Given the description of an element on the screen output the (x, y) to click on. 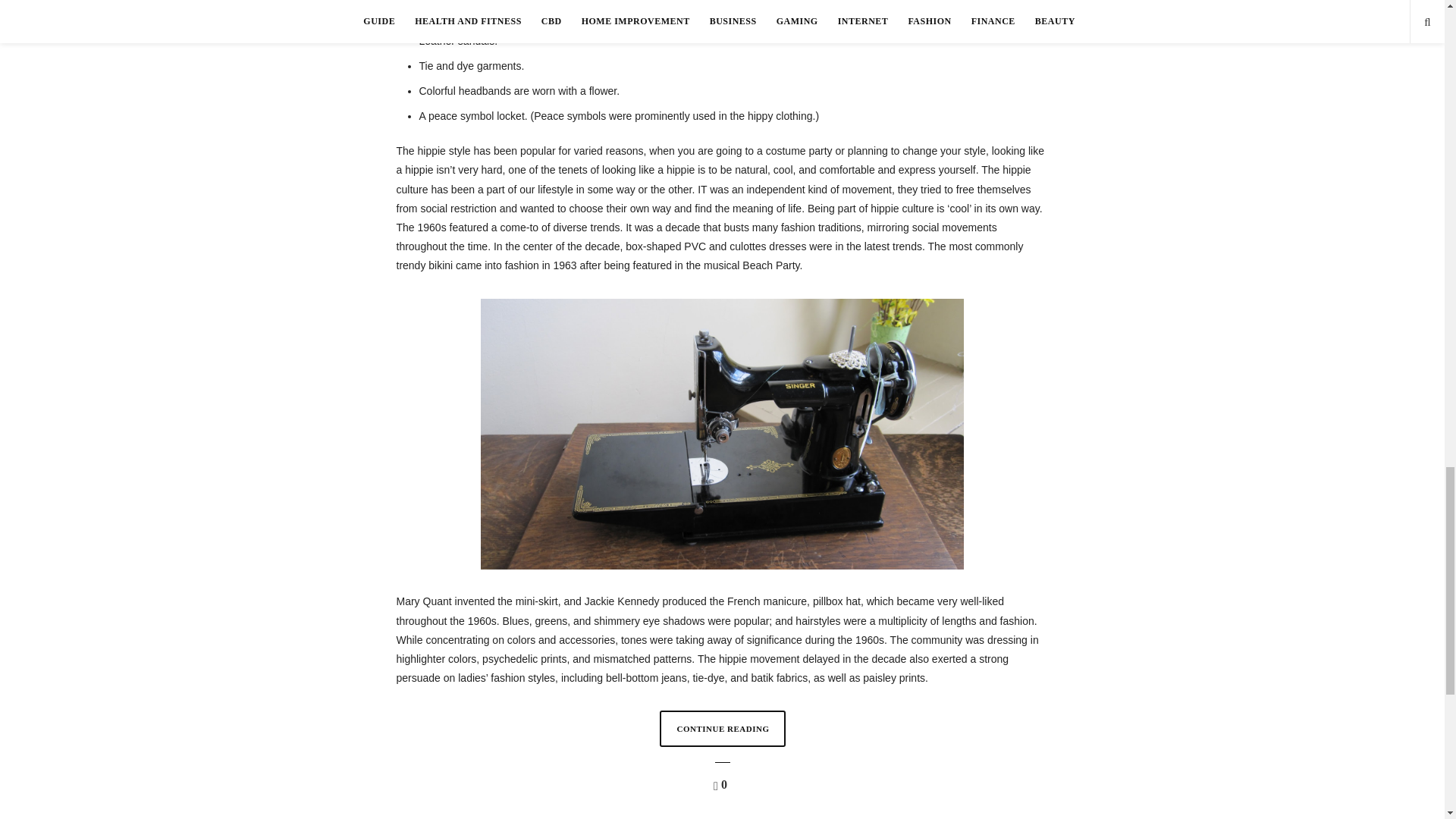
 0 (721, 784)
Like (721, 784)
CONTINUE READING (722, 728)
